Given the description of an element on the screen output the (x, y) to click on. 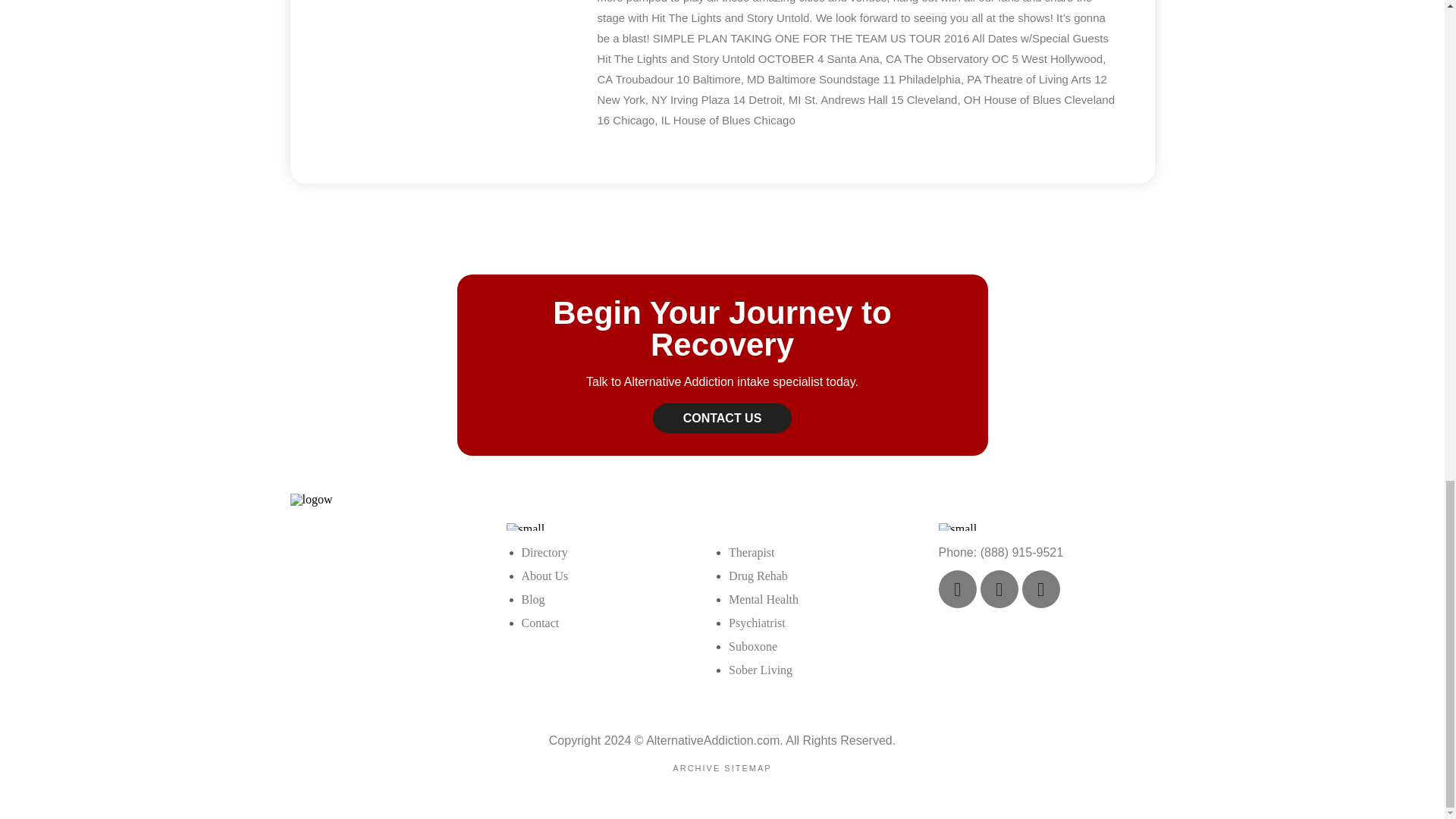
SITEMAP (747, 768)
Drug Rehab (758, 575)
About Us (545, 575)
Blog (532, 599)
ARCHIVE (696, 768)
Sober Living (760, 669)
Contact (540, 622)
Mental Health (763, 599)
Psychiatrist (757, 622)
Suboxone (753, 645)
Therapist (751, 552)
CONTACT US (722, 418)
Directory (544, 552)
